Given the description of an element on the screen output the (x, y) to click on. 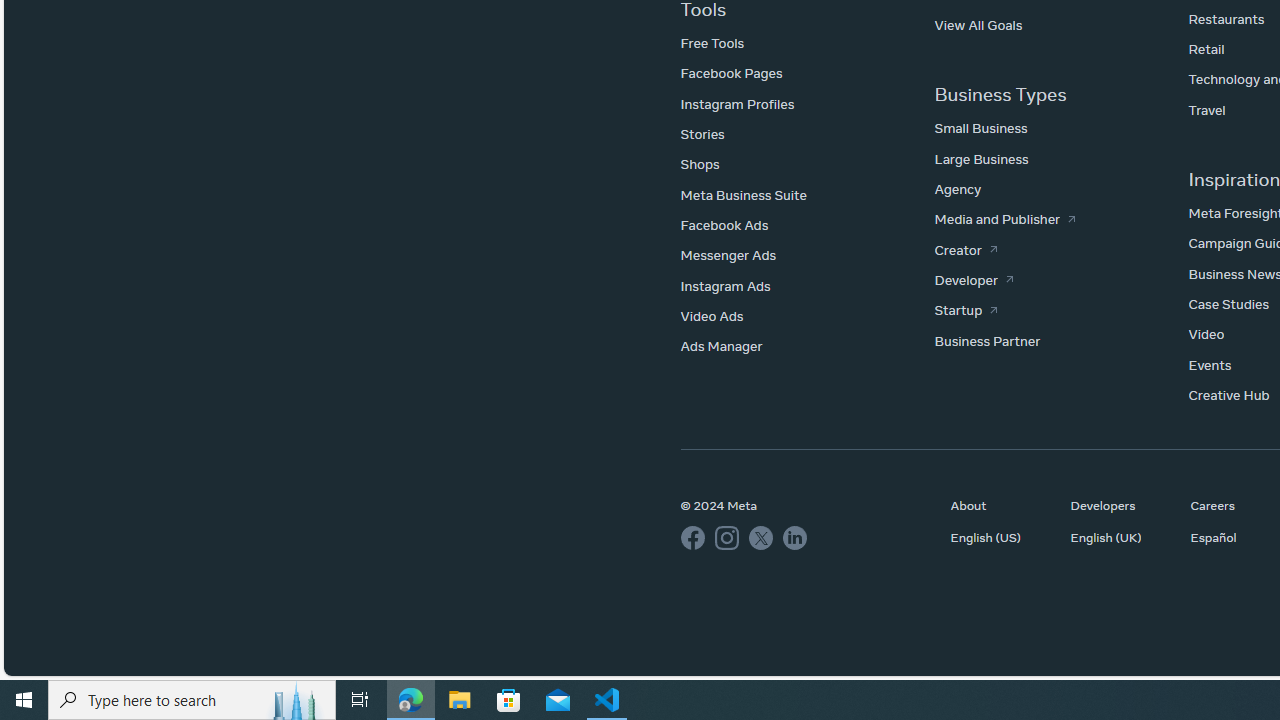
Business Partner (987, 340)
Events (1209, 363)
Stories (701, 133)
Instagram Ads (724, 285)
Facebook Pages (731, 73)
Meta Business Suite (743, 194)
Developer (973, 280)
Instagram Profiles (736, 103)
Small Business (980, 128)
Agency (957, 189)
Travel (1206, 109)
Free Tools (711, 42)
English (US) (1000, 537)
